Given the description of an element on the screen output the (x, y) to click on. 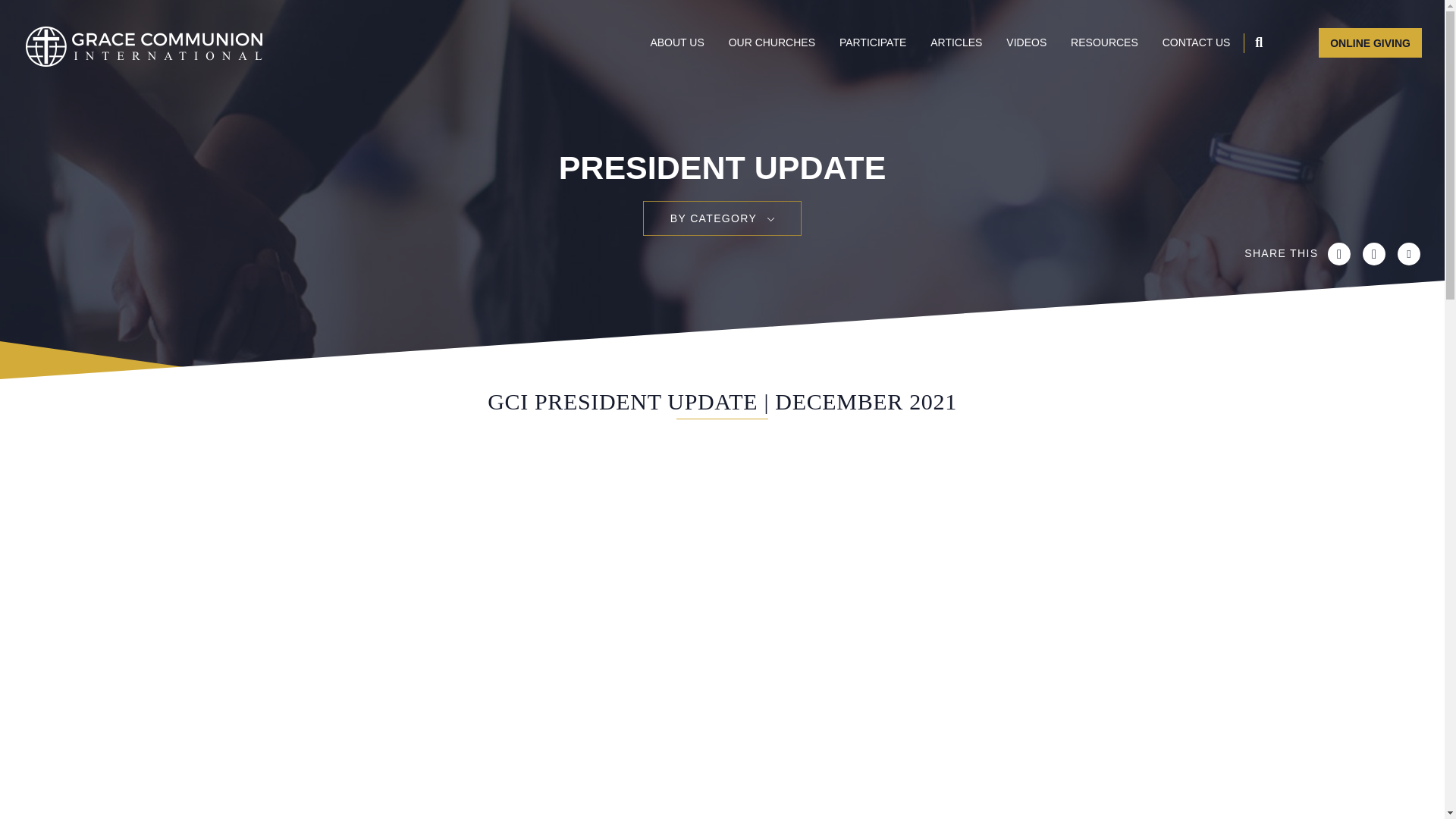
VIDEOS (1026, 41)
ABOUT US (676, 41)
Grace Communion International (144, 46)
OUR CHURCHES (772, 41)
ARTICLES (955, 41)
PARTICIPATE (872, 41)
RESOURCES (1104, 41)
CONTACT US (1195, 41)
ONLINE GIVING (1370, 42)
